Given the description of an element on the screen output the (x, y) to click on. 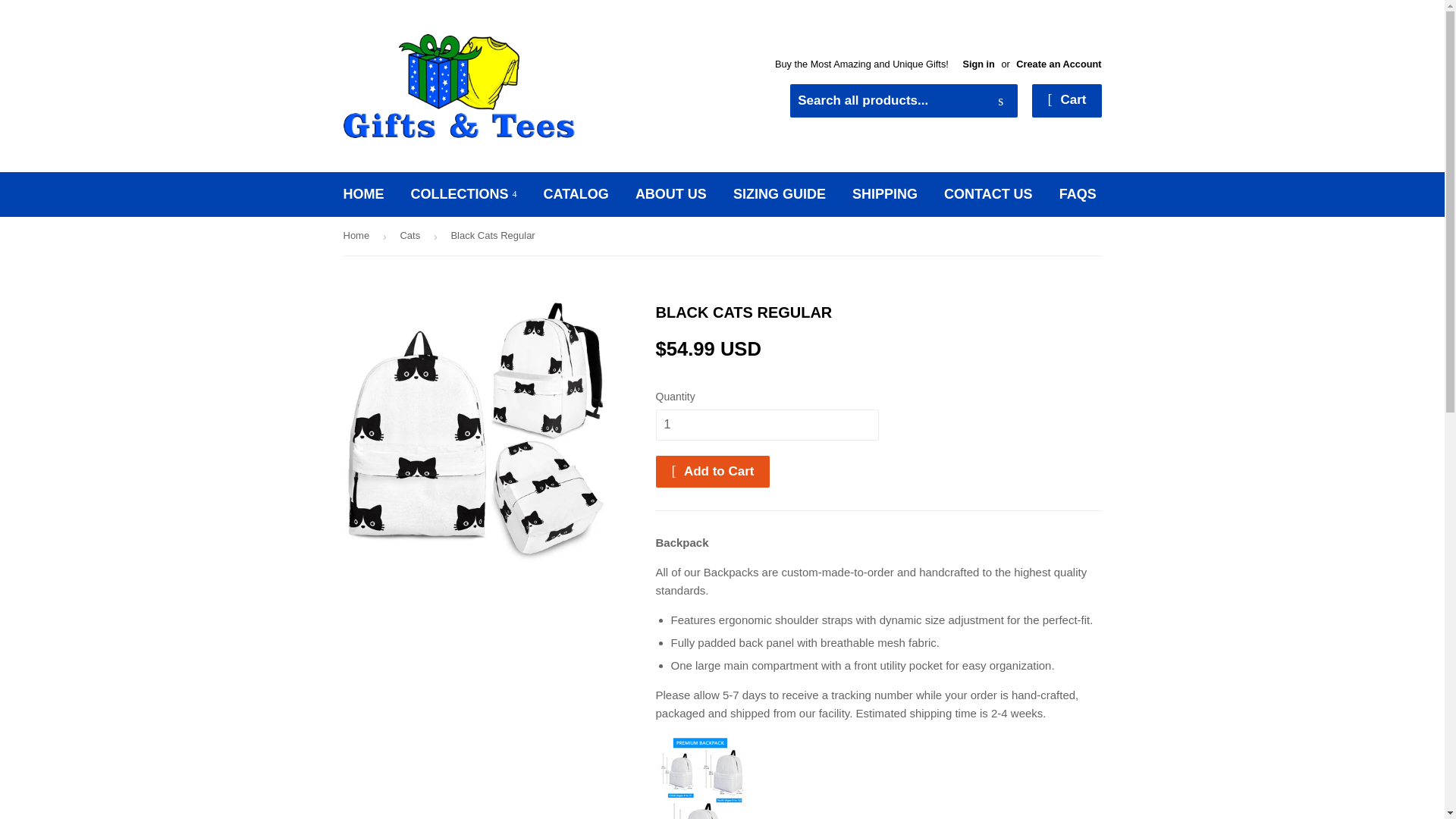
1 (766, 424)
SHIPPING (884, 194)
SIZING GUIDE (779, 194)
COLLECTIONS (463, 194)
Create an Account (1058, 63)
Sign in (978, 63)
Cart (1066, 100)
FAQS (1078, 194)
CATALOG (576, 194)
Search (1000, 101)
